Given the description of an element on the screen output the (x, y) to click on. 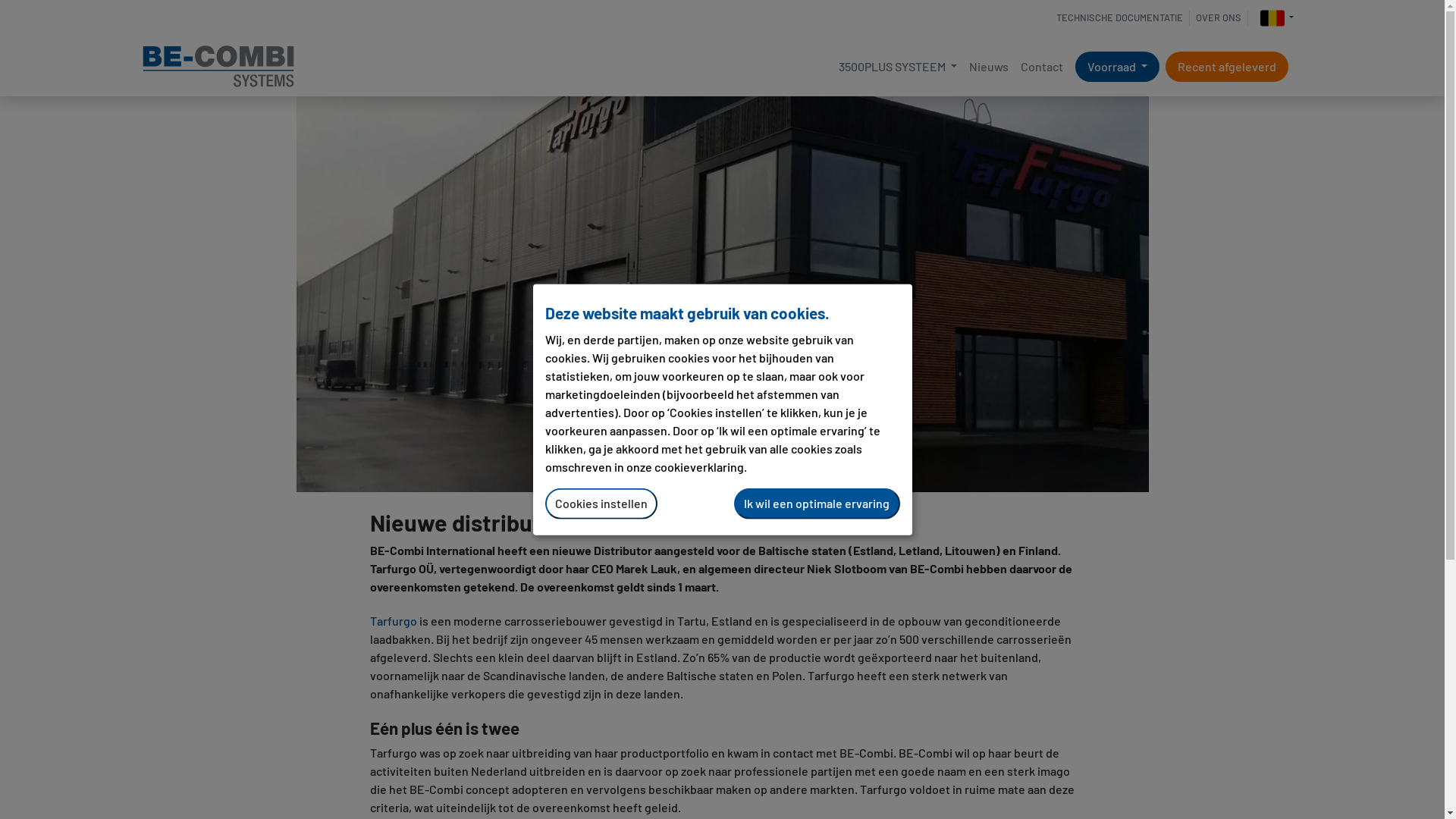
3500PLUS SYSTEEM Element type: text (897, 66)
Tarfurgo Element type: text (393, 620)
cookieverklaring Element type: text (698, 466)
Cookies instellen Element type: text (600, 503)
OVER ONS Element type: text (1218, 17)
Voorraad Element type: text (1117, 66)
Recent afgeleverd Element type: text (1226, 66)
Nieuws Element type: text (988, 66)
Contact Element type: text (1041, 66)
Ik wil een optimale ervaring Element type: text (816, 503)
TECHNISCHE DOCUMENTATIE Element type: text (1119, 17)
